Given the description of an element on the screen output the (x, y) to click on. 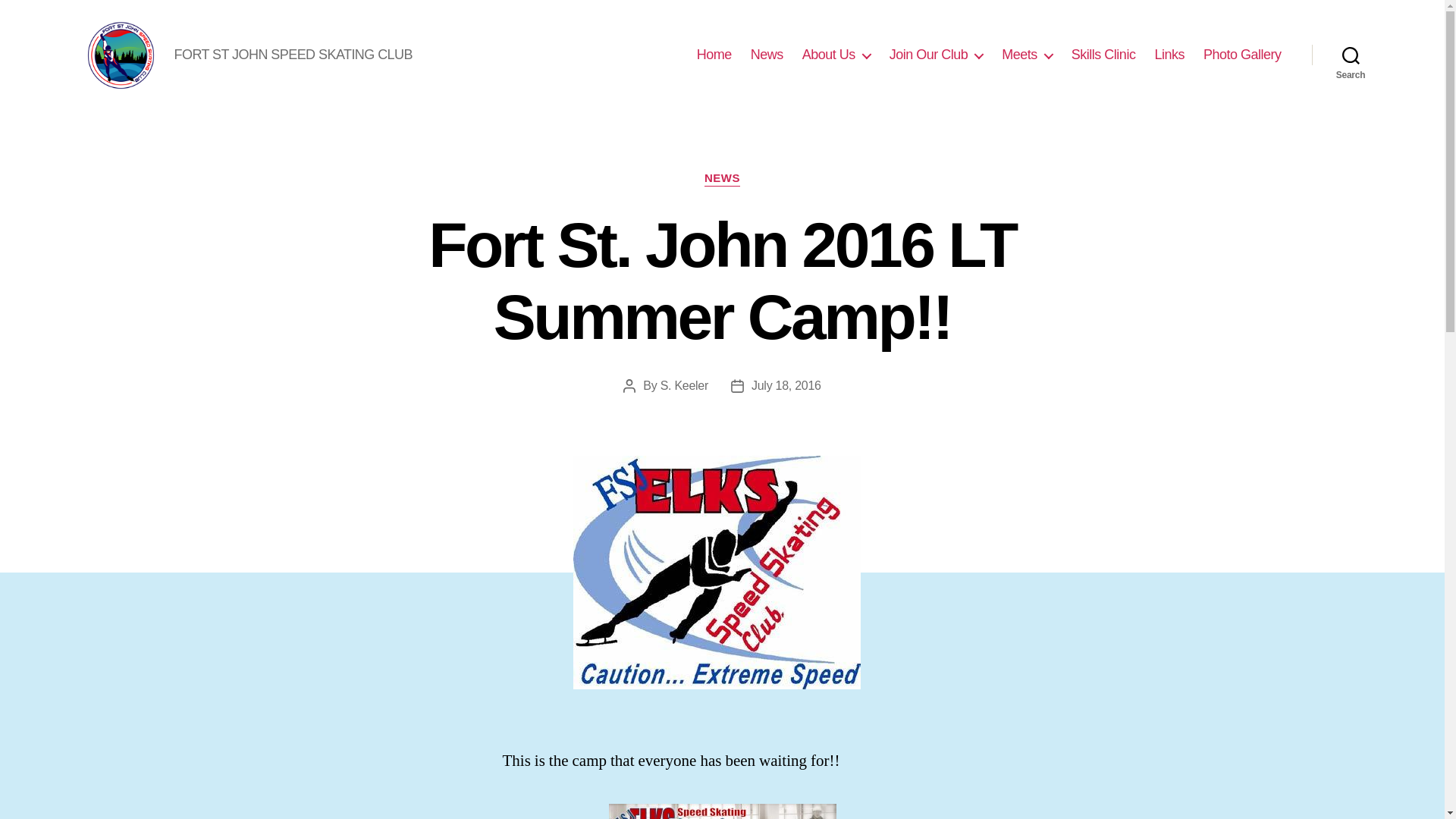
Search (1350, 55)
Join Our Club (936, 54)
Skills Clinic (1103, 54)
Home (714, 54)
Photo Gallery (1242, 54)
Links (1169, 54)
Meets (1026, 54)
News (767, 54)
About Us (836, 54)
